Given the description of an element on the screen output the (x, y) to click on. 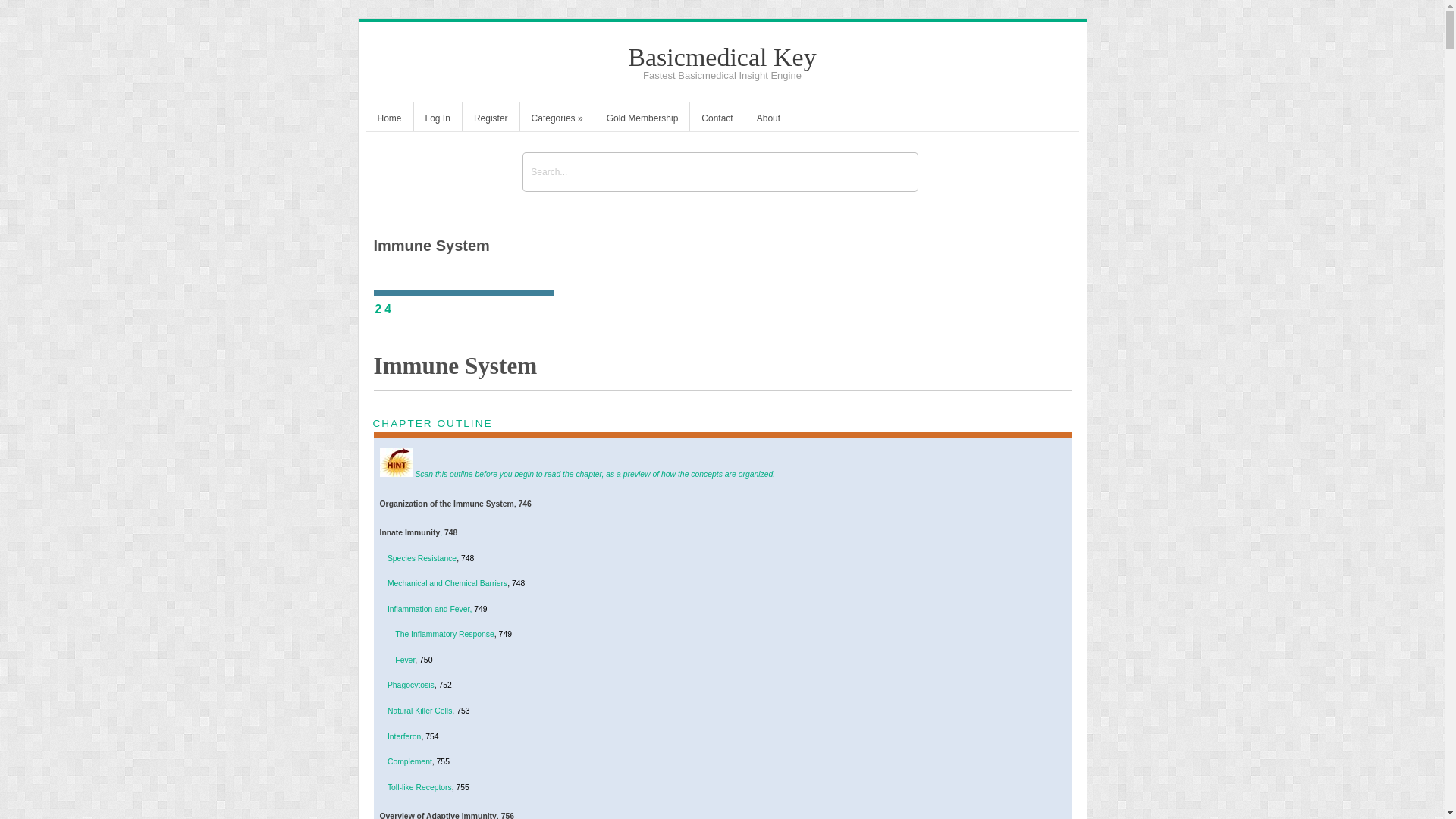
Home (388, 119)
Contact (717, 119)
Gold Membership (642, 119)
Log In (437, 119)
About (768, 119)
Basicmedical Key (721, 57)
Basicmedical Key (721, 57)
Register (491, 119)
